Given the description of an element on the screen output the (x, y) to click on. 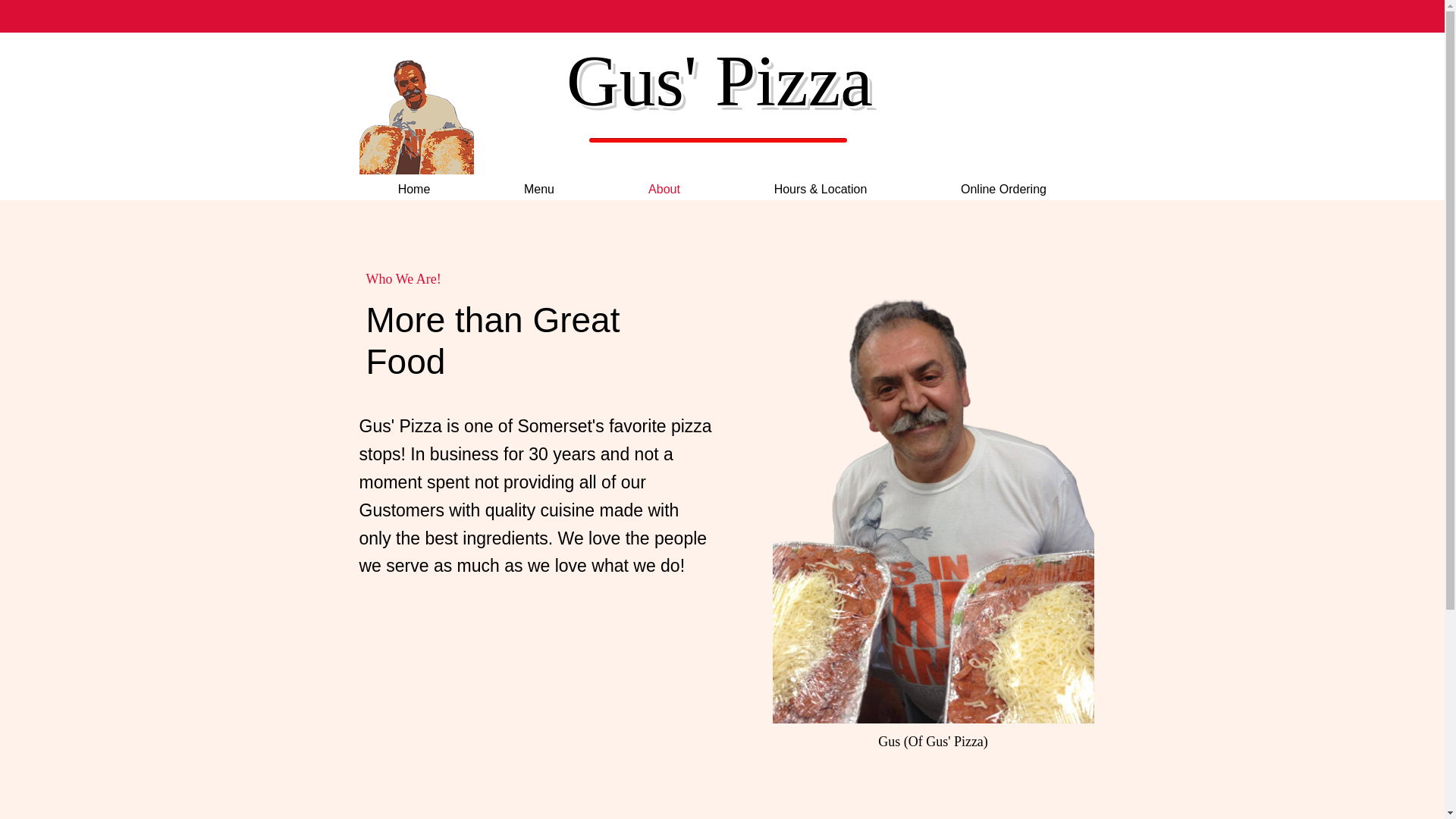
Online Ordering (1002, 189)
Menu (539, 189)
Home (413, 189)
Gus' Pizza (719, 80)
About (662, 189)
